Given the description of an element on the screen output the (x, y) to click on. 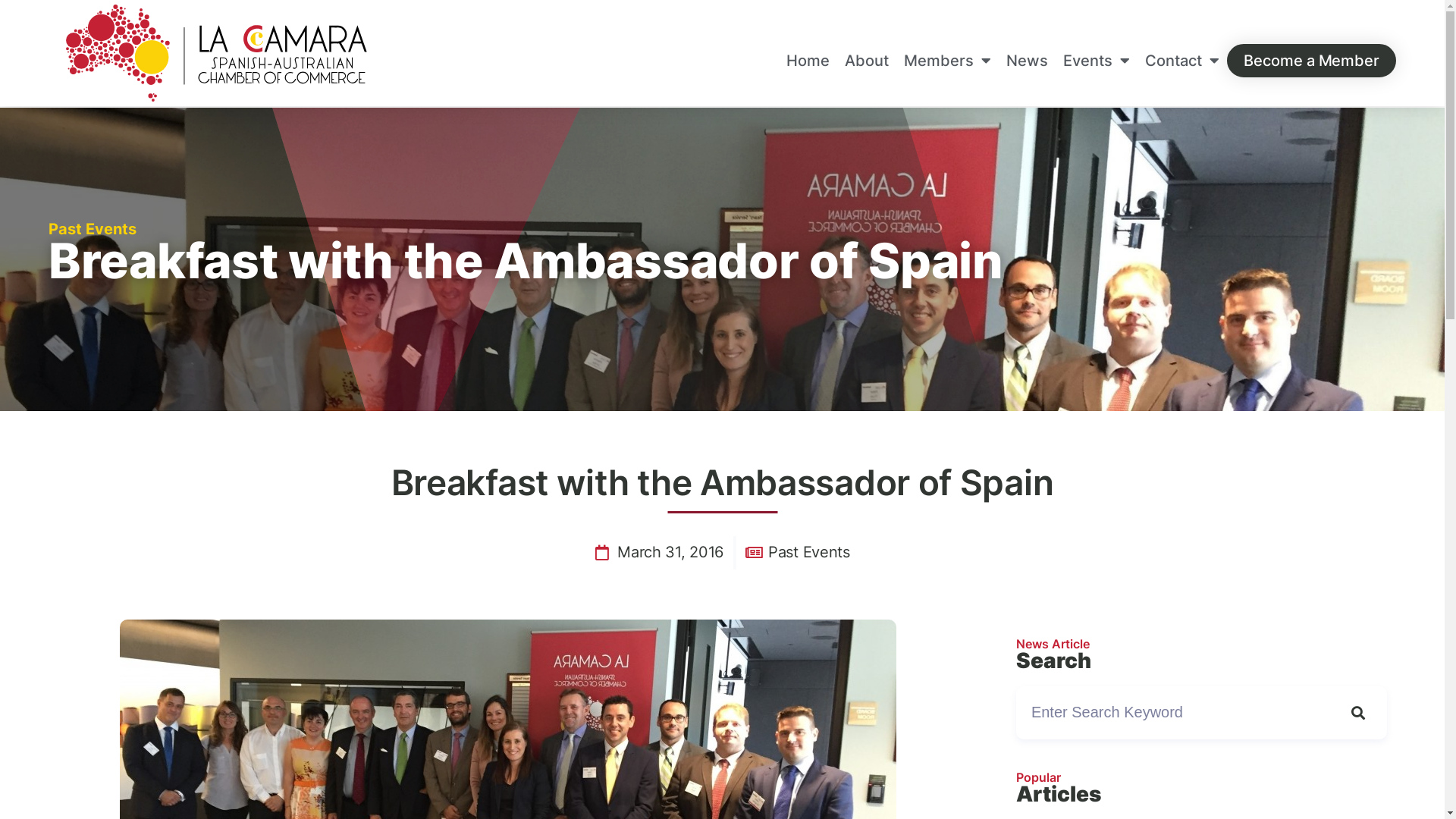
About Element type: text (866, 60)
Past Events Element type: text (92, 228)
March 31, 2016 Element type: text (658, 552)
Home Element type: text (807, 60)
Members Element type: text (947, 60)
News Element type: text (1026, 60)
Become a Member Element type: text (1311, 60)
Past Events Element type: text (809, 551)
Contact Element type: text (1181, 60)
Events Element type: text (1096, 60)
